Given the description of an element on the screen output the (x, y) to click on. 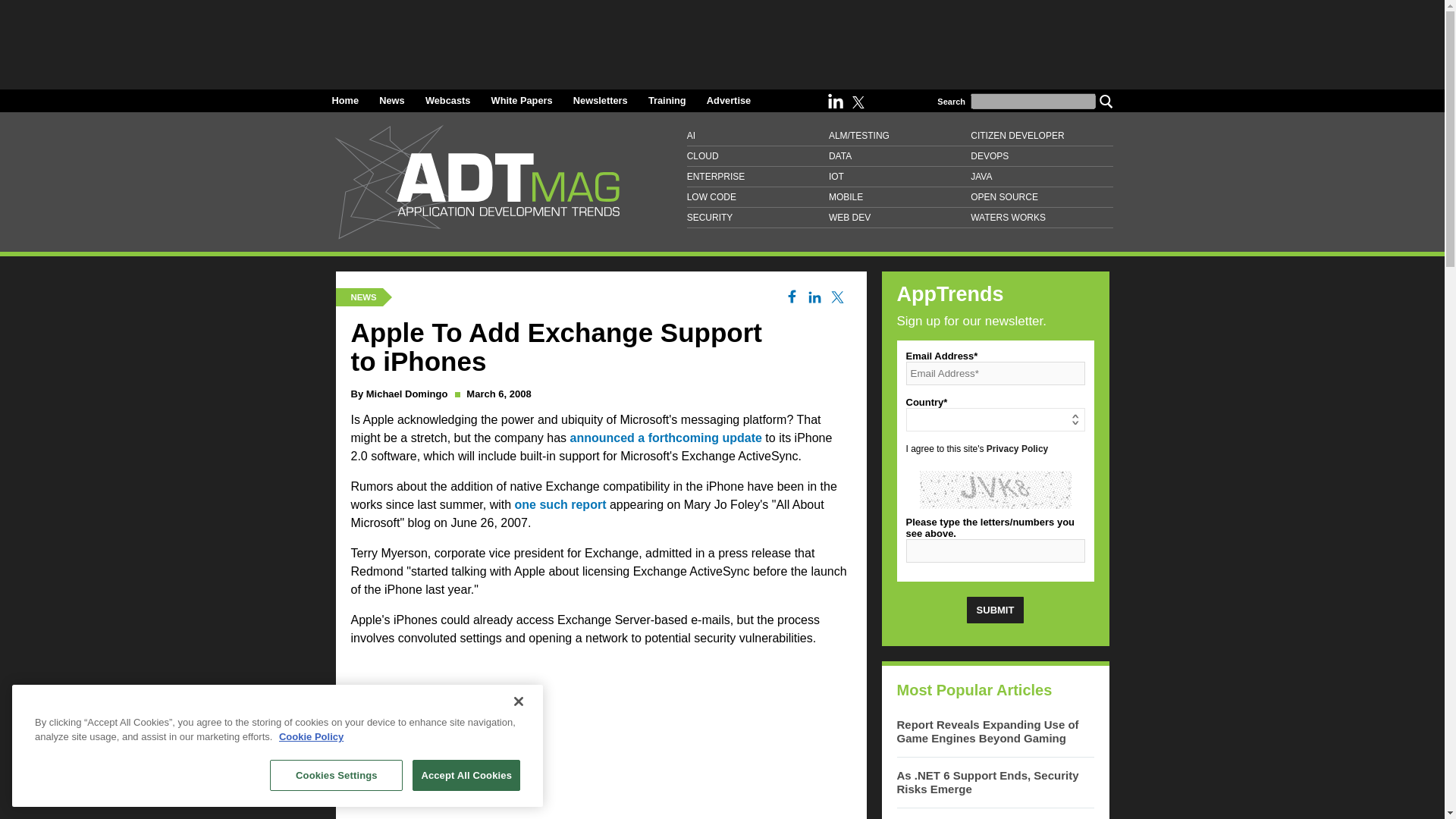
Newsletters (600, 100)
DATA (899, 156)
announced a forthcoming update (665, 437)
WEB DEV (899, 218)
White Papers (522, 100)
one such report (561, 504)
DEVOPS (1041, 156)
AI (757, 136)
Search (1106, 100)
MOBILE (899, 197)
